Given the description of an element on the screen output the (x, y) to click on. 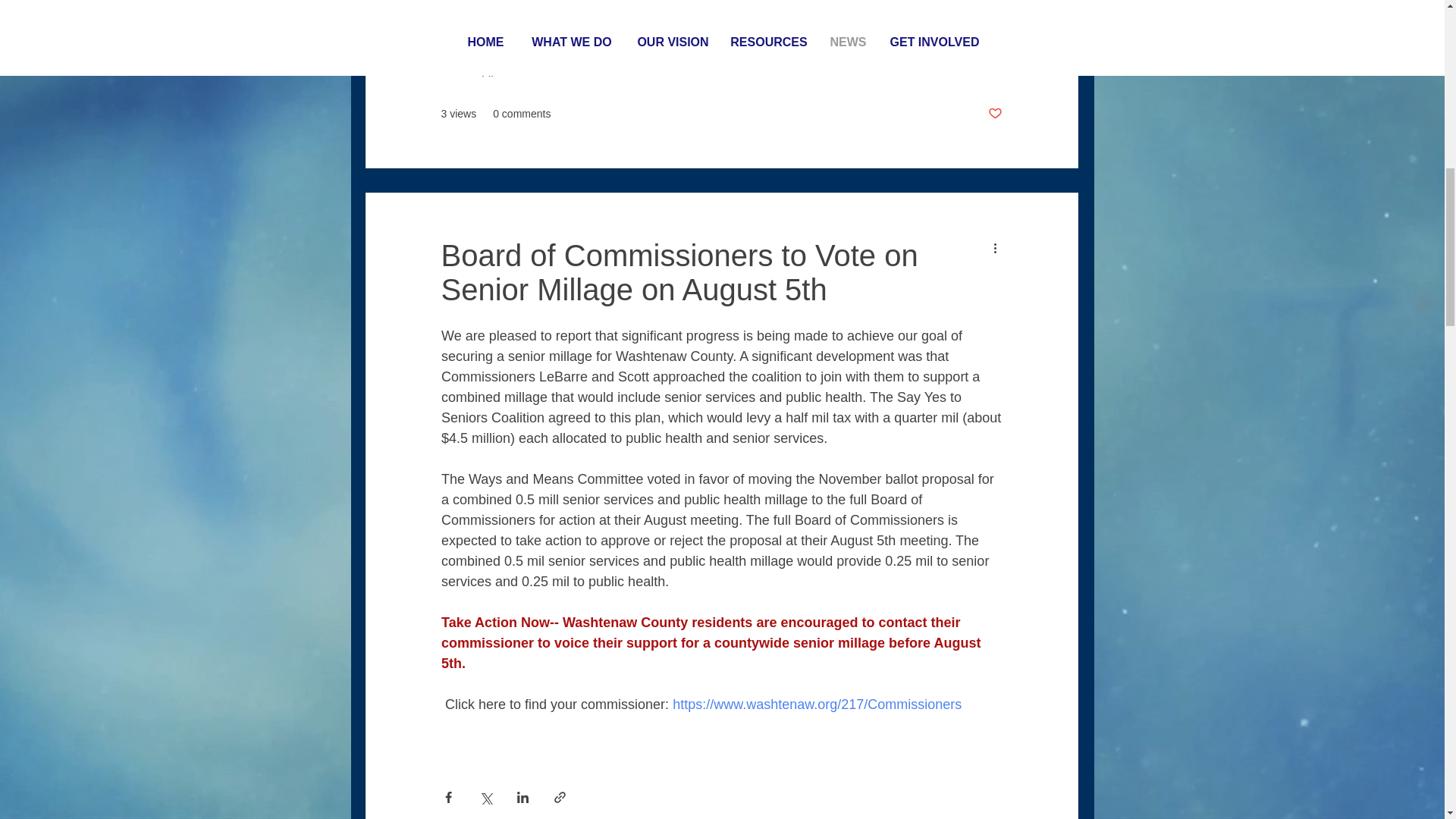
Post not marked as liked (994, 114)
0 comments (521, 114)
